Given the description of an element on the screen output the (x, y) to click on. 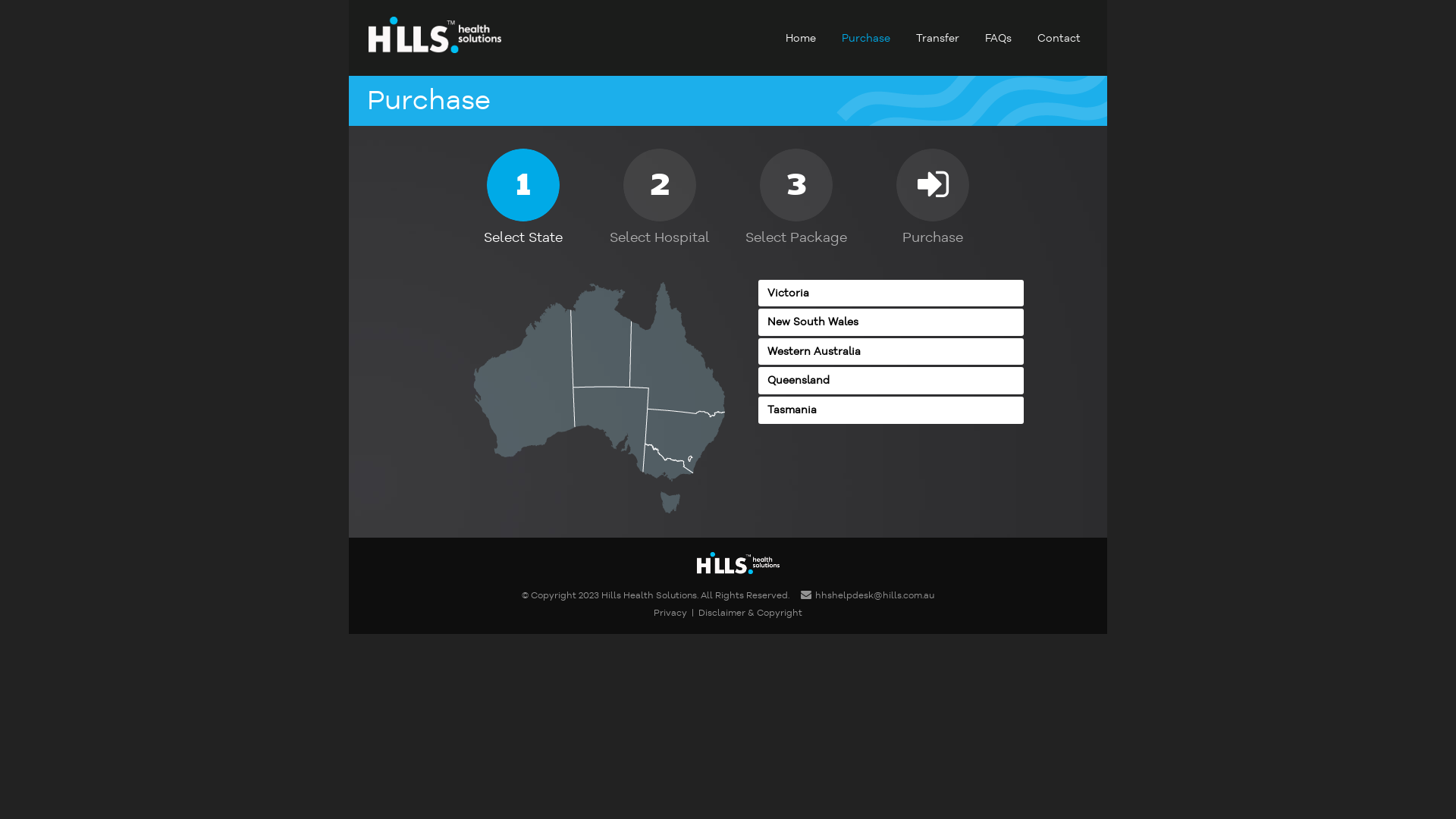
Home Element type: text (800, 37)
Queensland Element type: text (890, 380)
hhshelpdesk@hills.com.au Element type: text (867, 595)
Victoria Element type: text (890, 293)
FAQs Element type: text (997, 37)
Purchase Element type: text (865, 37)
Tasmania Element type: text (890, 409)
Contact Element type: text (1059, 37)
New South Wales Element type: text (890, 321)
Transfer Element type: text (937, 37)
Western Australia Element type: text (890, 351)
Privacy Element type: text (670, 612)
Disclaimer & Copyright Element type: text (750, 612)
